Given the description of an element on the screen output the (x, y) to click on. 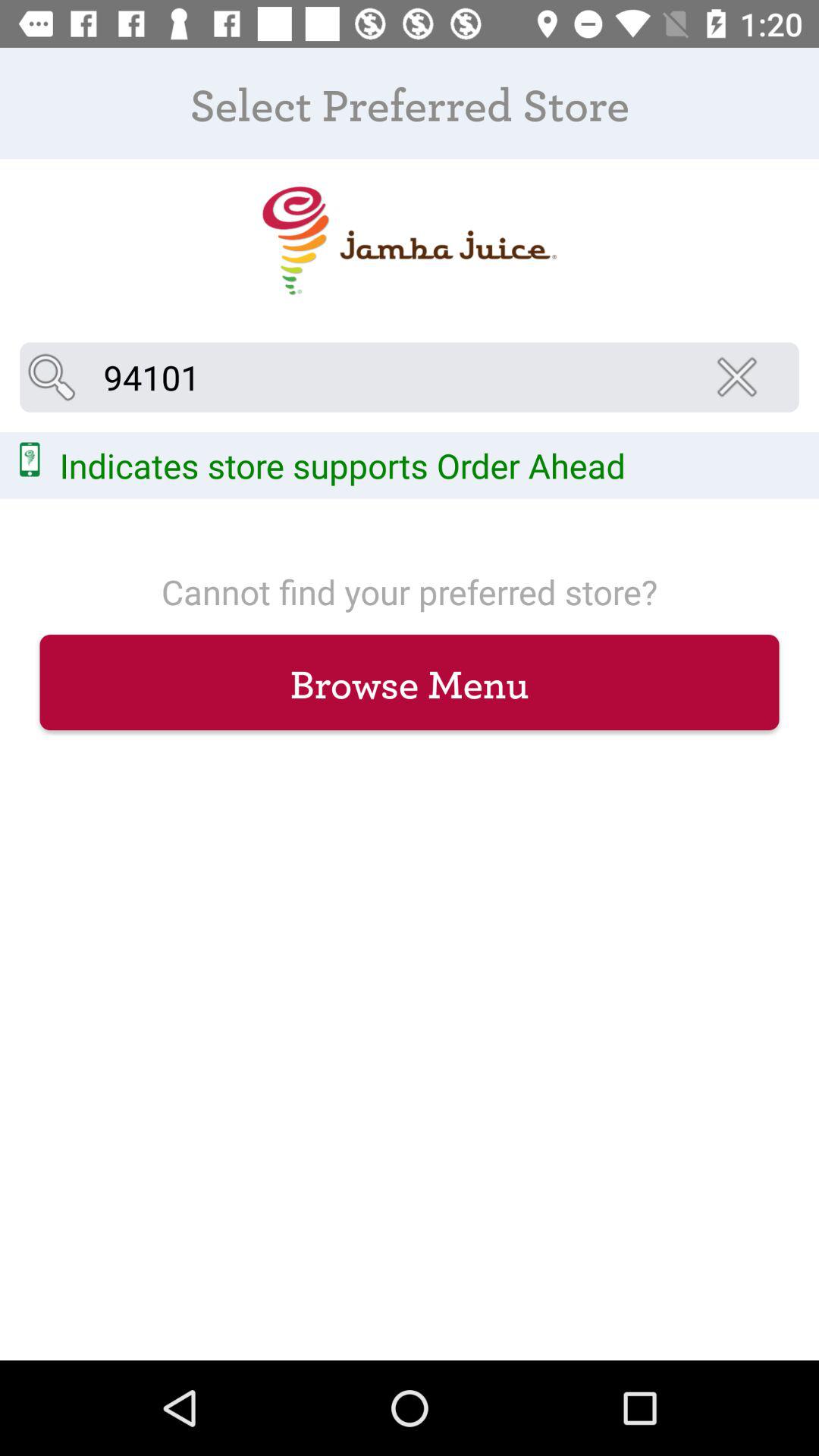
click icon below the select preferred store icon (408, 240)
